Given the description of an element on the screen output the (x, y) to click on. 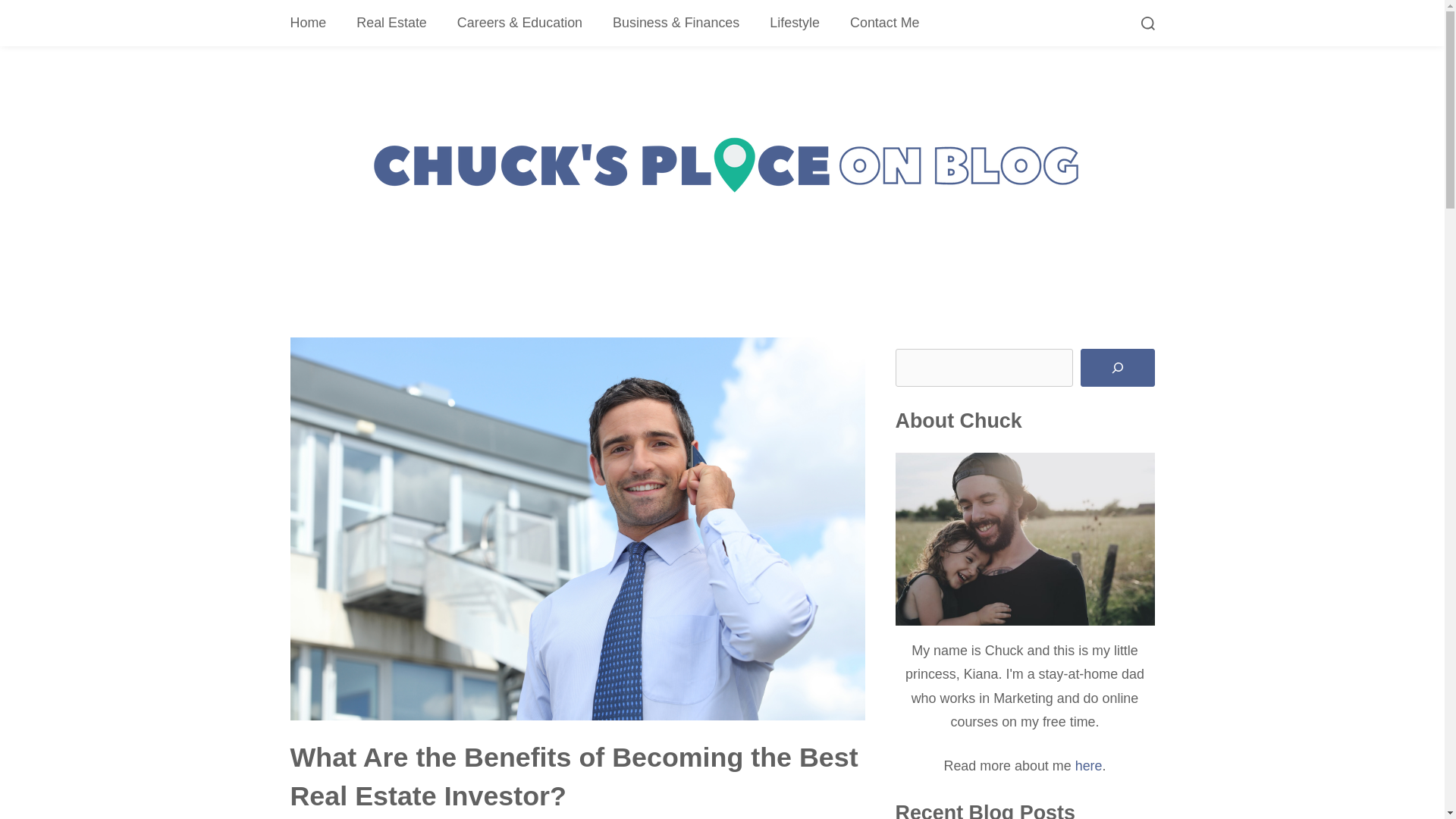
Home (307, 22)
Lifestyle (794, 22)
here (1088, 765)
Real Estate (391, 22)
Contact Me (884, 22)
